Given the description of an element on the screen output the (x, y) to click on. 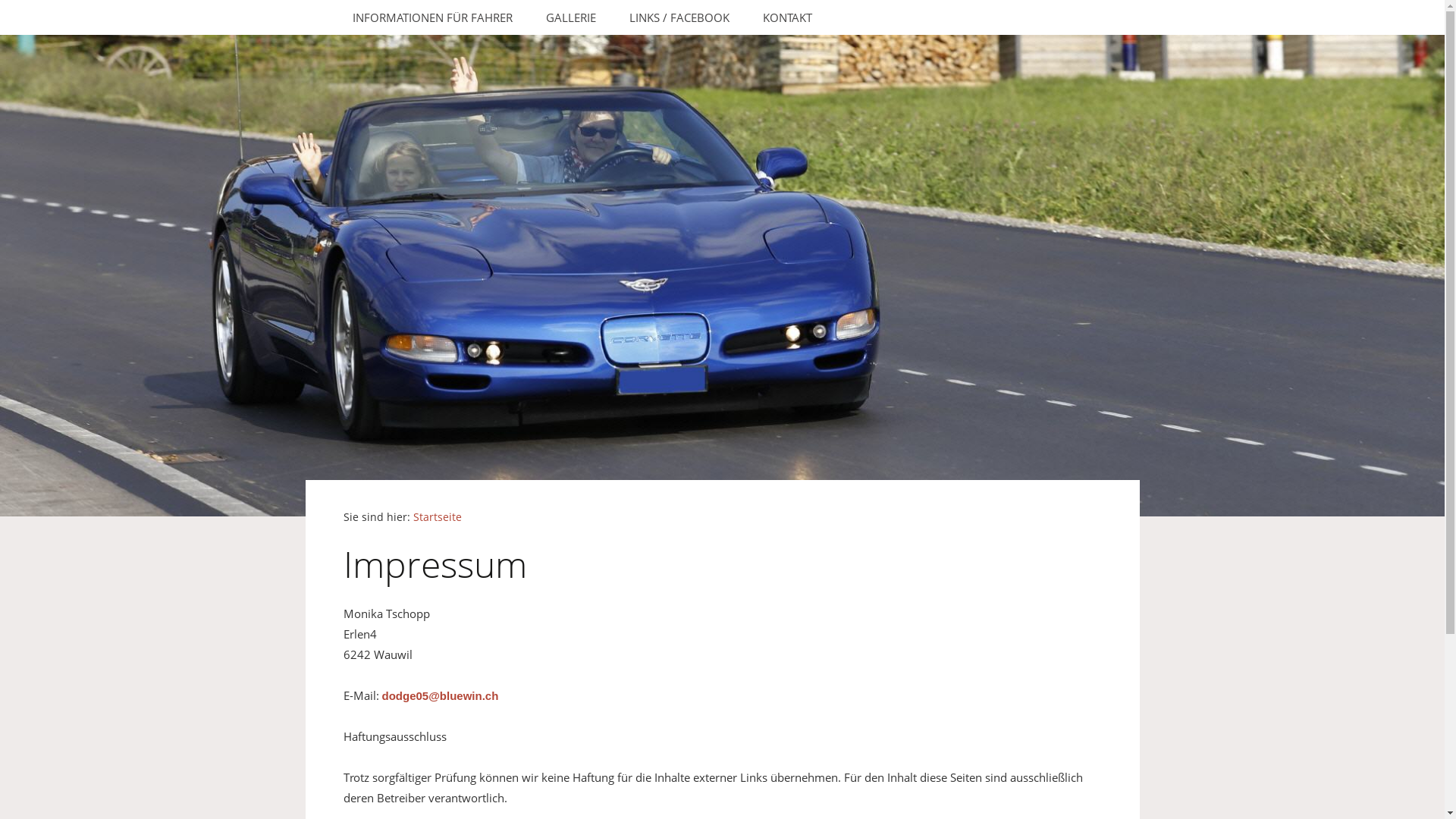
KONTAKT Element type: text (787, 17)
GALLERIE Element type: text (570, 17)
LINKS / FACEBOOK Element type: text (679, 17)
dodge05@bluewin.ch Element type: text (440, 695)
Startseite Element type: text (436, 517)
